Given the description of an element on the screen output the (x, y) to click on. 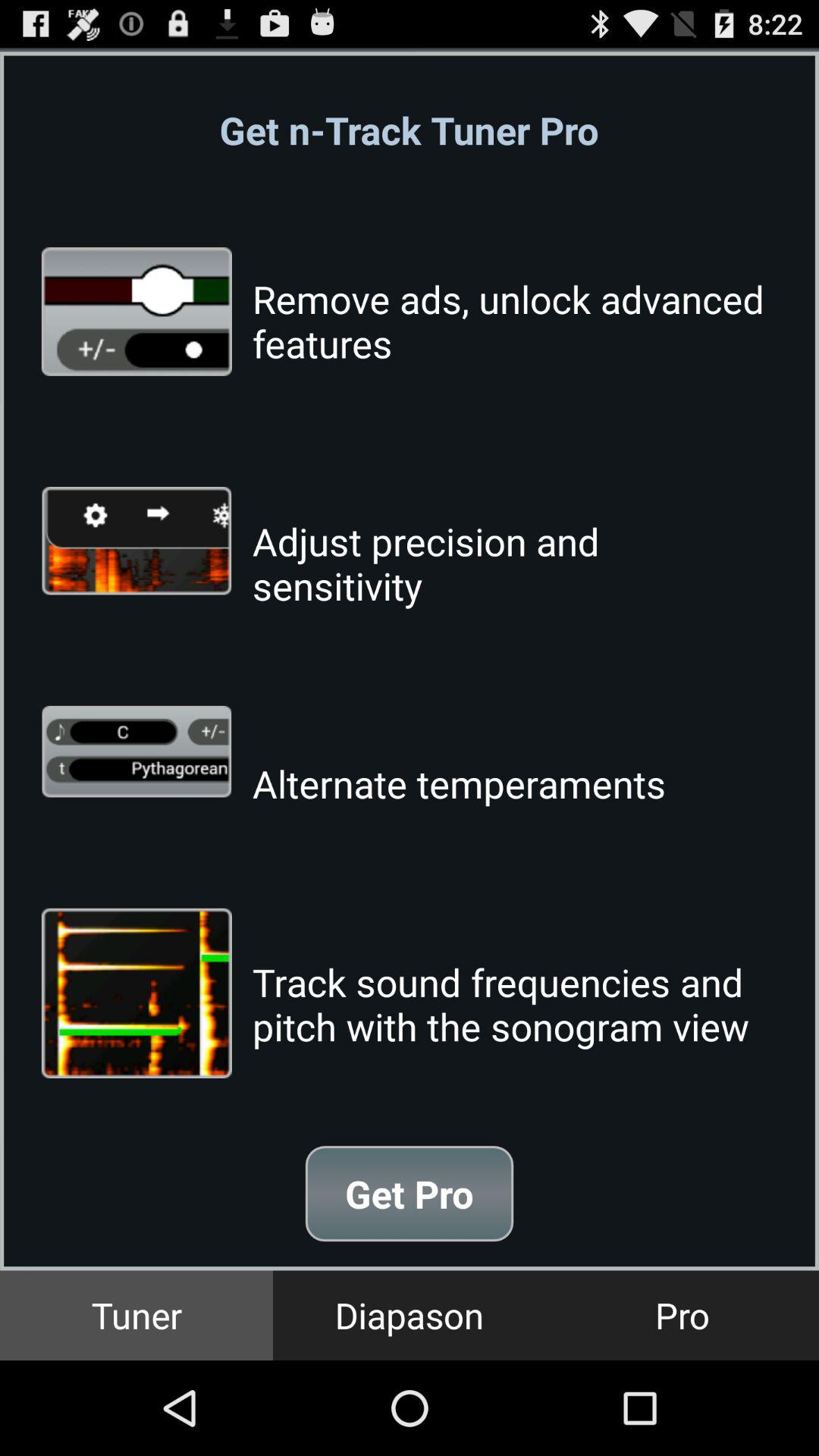
open item next to pro (409, 1315)
